Given the description of an element on the screen output the (x, y) to click on. 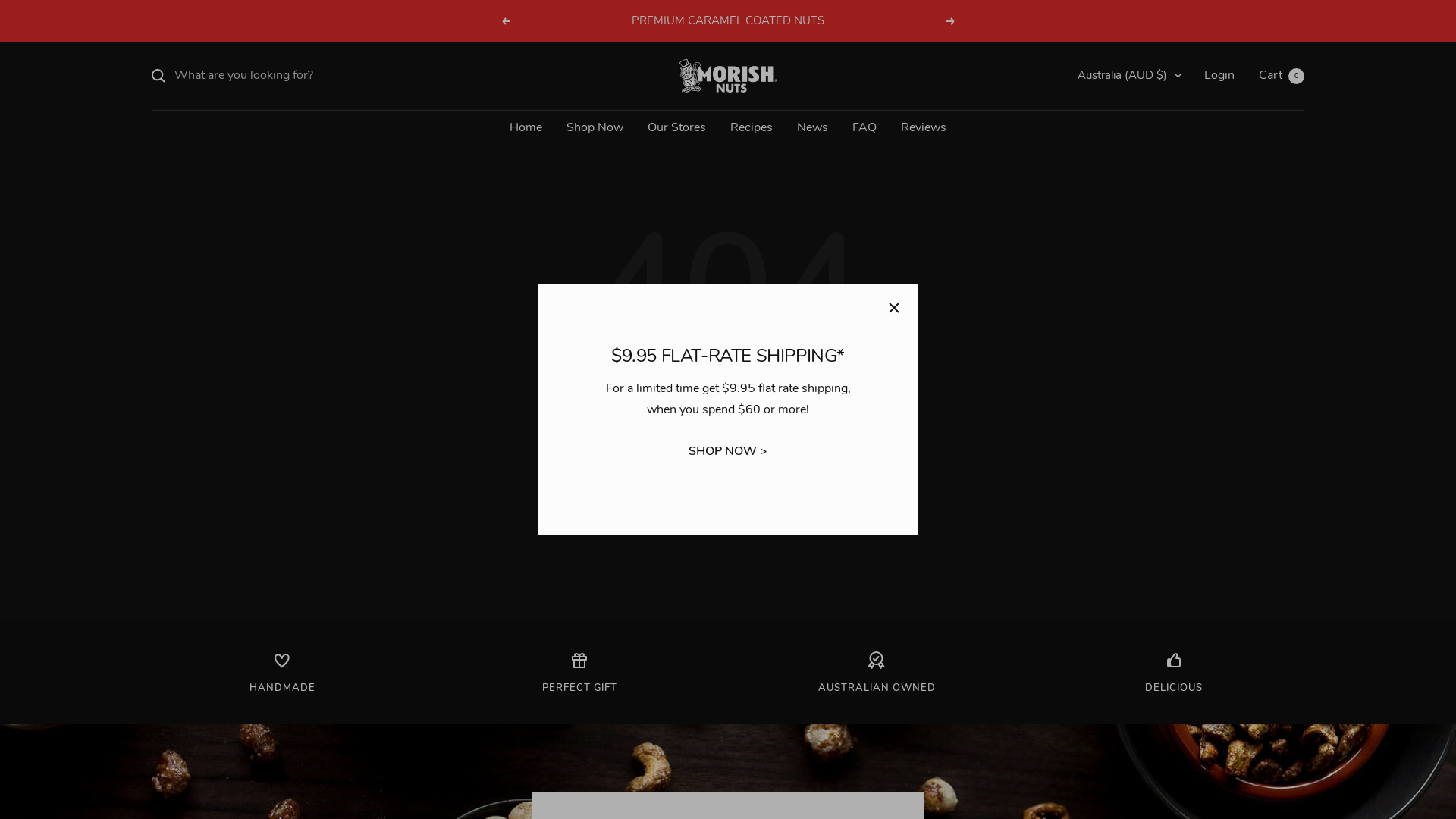
CA Element type: text (1101, 155)
IE Element type: text (1101, 208)
Recipes Element type: text (751, 127)
Australia (AUD $) Element type: text (1129, 75)
Login Element type: text (1219, 74)
FAQ Element type: text (864, 127)
HK Element type: text (1101, 181)
SHOP NOW > Element type: text (727, 450)
Morish Nuts Element type: text (727, 76)
US Element type: text (1101, 340)
MY Element type: text (1101, 234)
NZ Element type: text (1101, 261)
AU Element type: text (1101, 129)
BACK TO HOME Element type: text (727, 430)
Close Element type: hover (893, 307)
Home Element type: text (525, 127)
Reviews Element type: text (923, 127)
SG Element type: text (1101, 287)
Next Element type: text (950, 21)
GB Element type: text (1101, 313)
Our Stores Element type: text (676, 127)
Shop Now Element type: text (594, 127)
Previous Element type: text (504, 21)
News Element type: text (812, 127)
Cart
0 Element type: text (1281, 74)
